Given the description of an element on the screen output the (x, y) to click on. 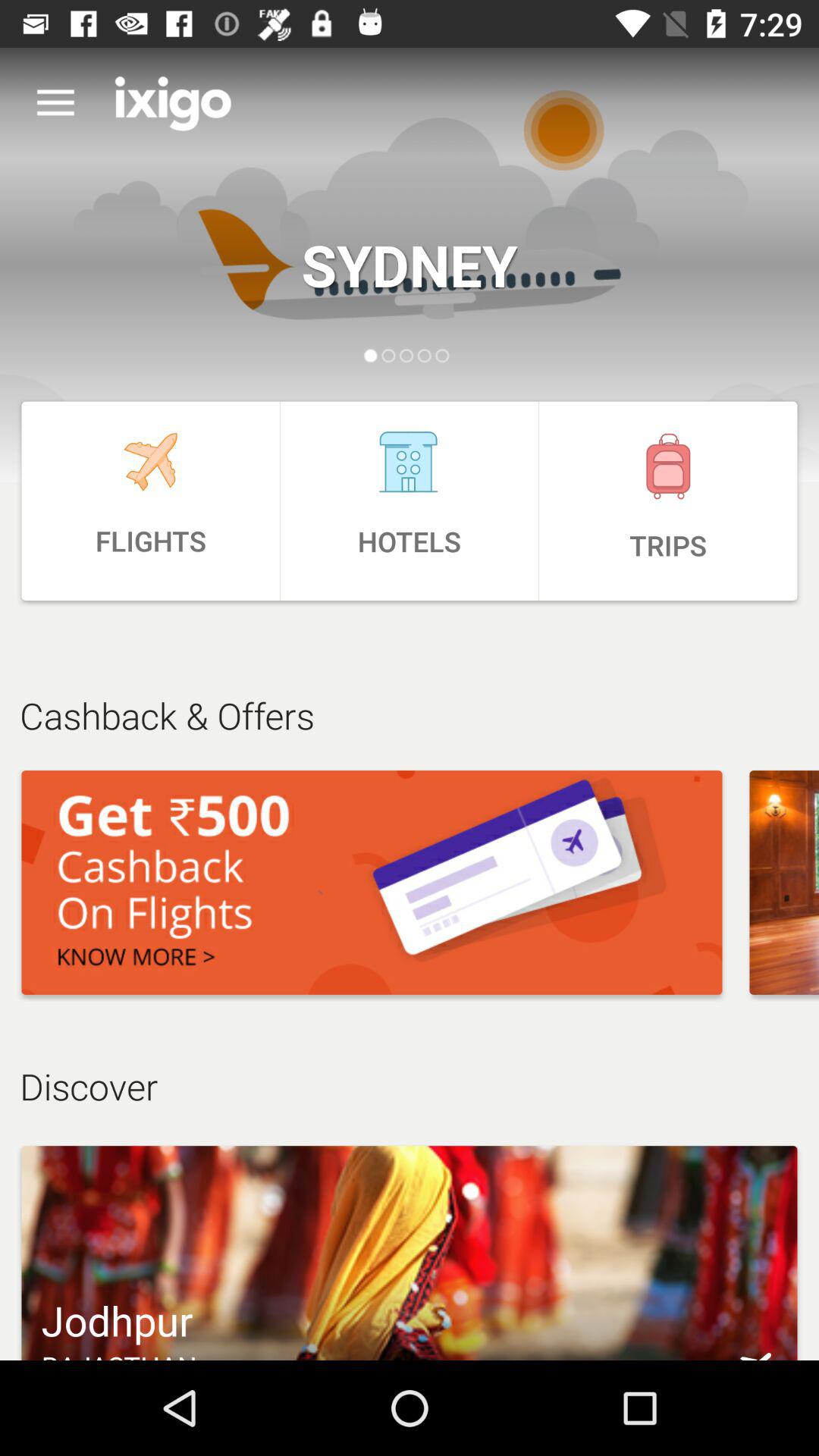
turn off the icon above the cashback & offers (409, 500)
